Given the description of an element on the screen output the (x, y) to click on. 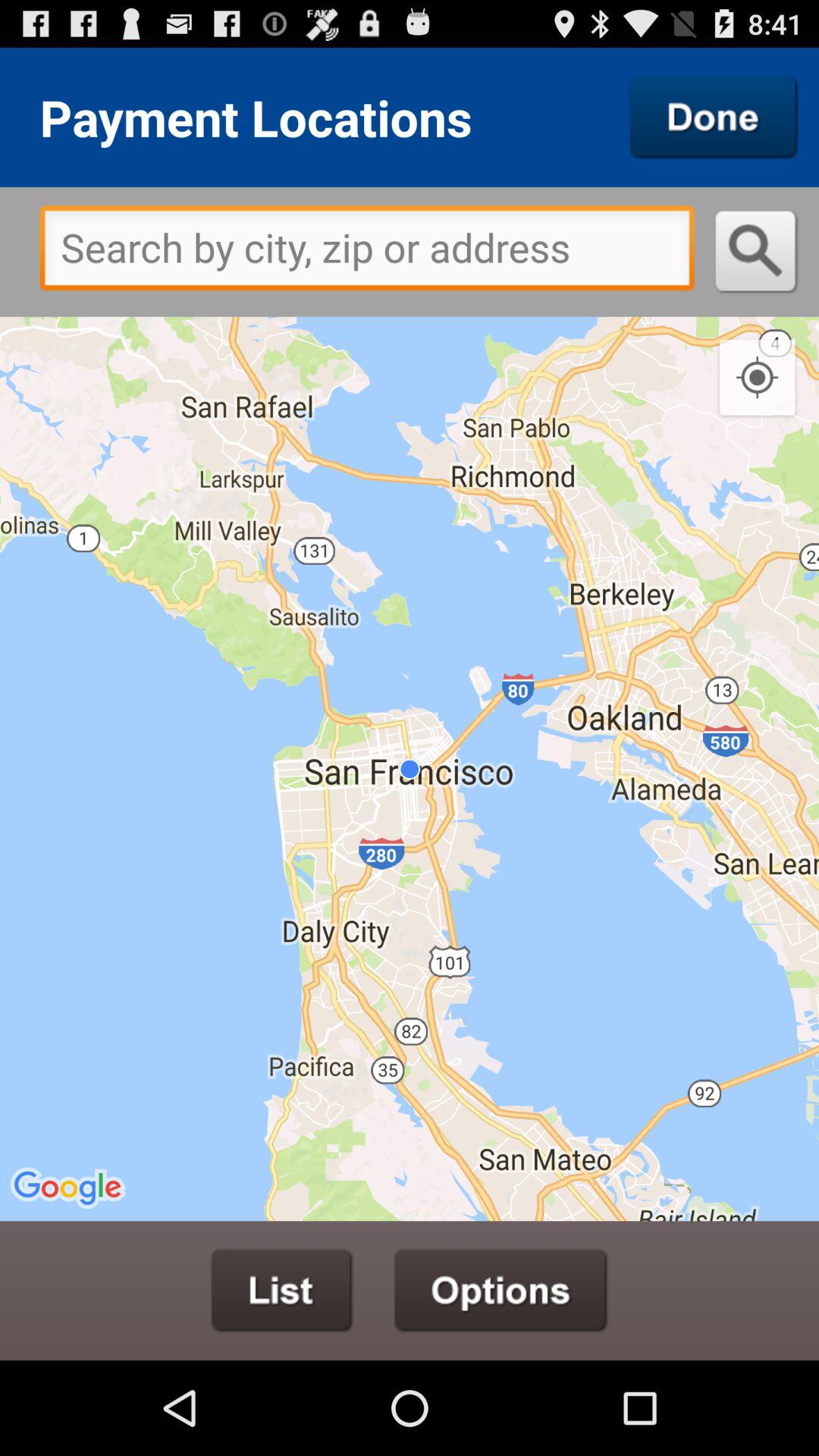
close search (714, 117)
